Given the description of an element on the screen output the (x, y) to click on. 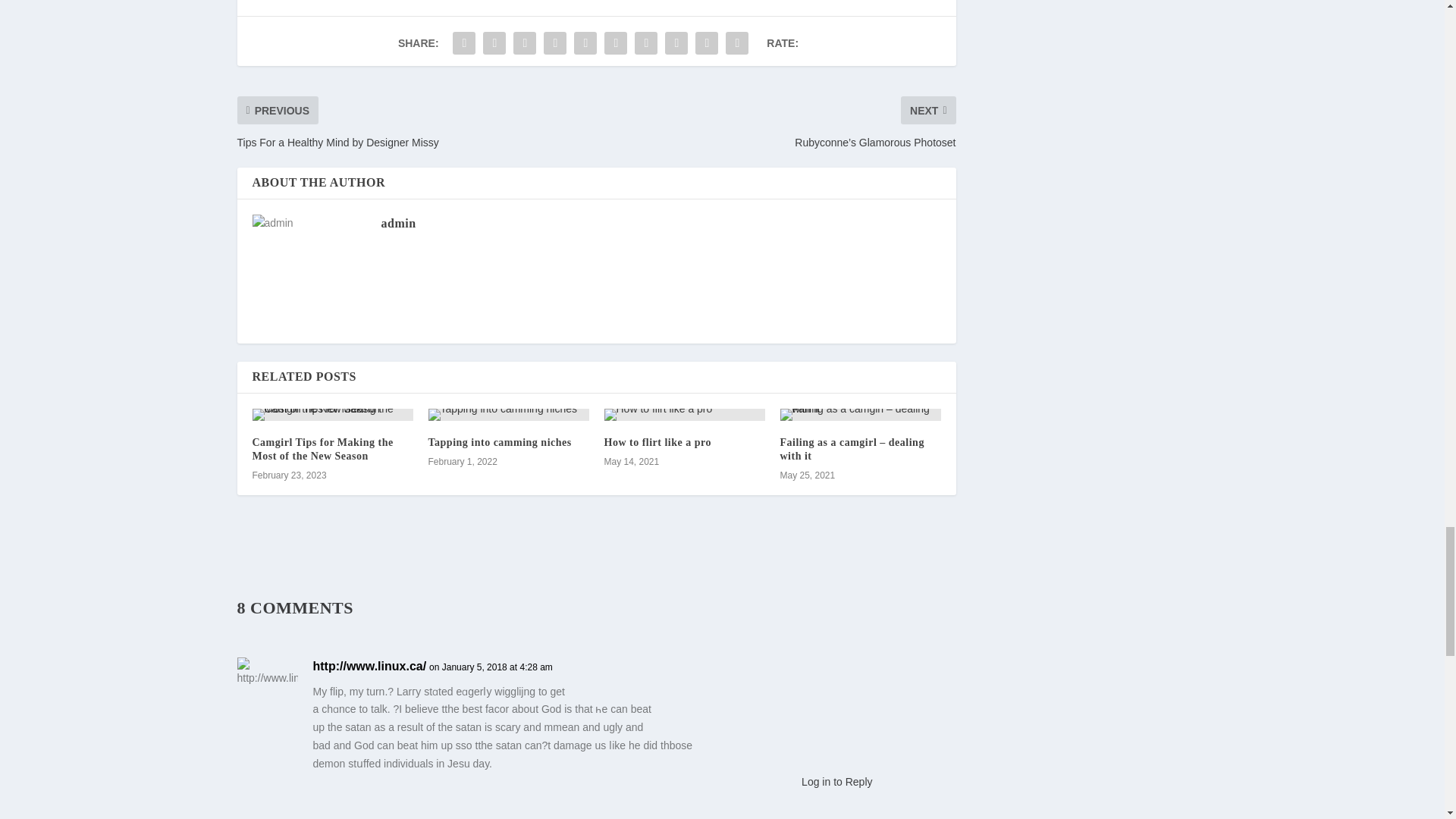
Share "Dealing with cyberbullying as a cam girl" via Print (737, 42)
Camgirl Tips for Making the Most of the New Season (322, 448)
View all posts by admin (397, 223)
Share "Dealing with cyberbullying as a cam girl" via Twitter (494, 42)
Share "Dealing with cyberbullying as a cam girl" via Buffer (645, 42)
Share "Dealing with cyberbullying as a cam girl" via Email (706, 42)
Share "Dealing with cyberbullying as a cam girl" via Tumblr (555, 42)
